Given the description of an element on the screen output the (x, y) to click on. 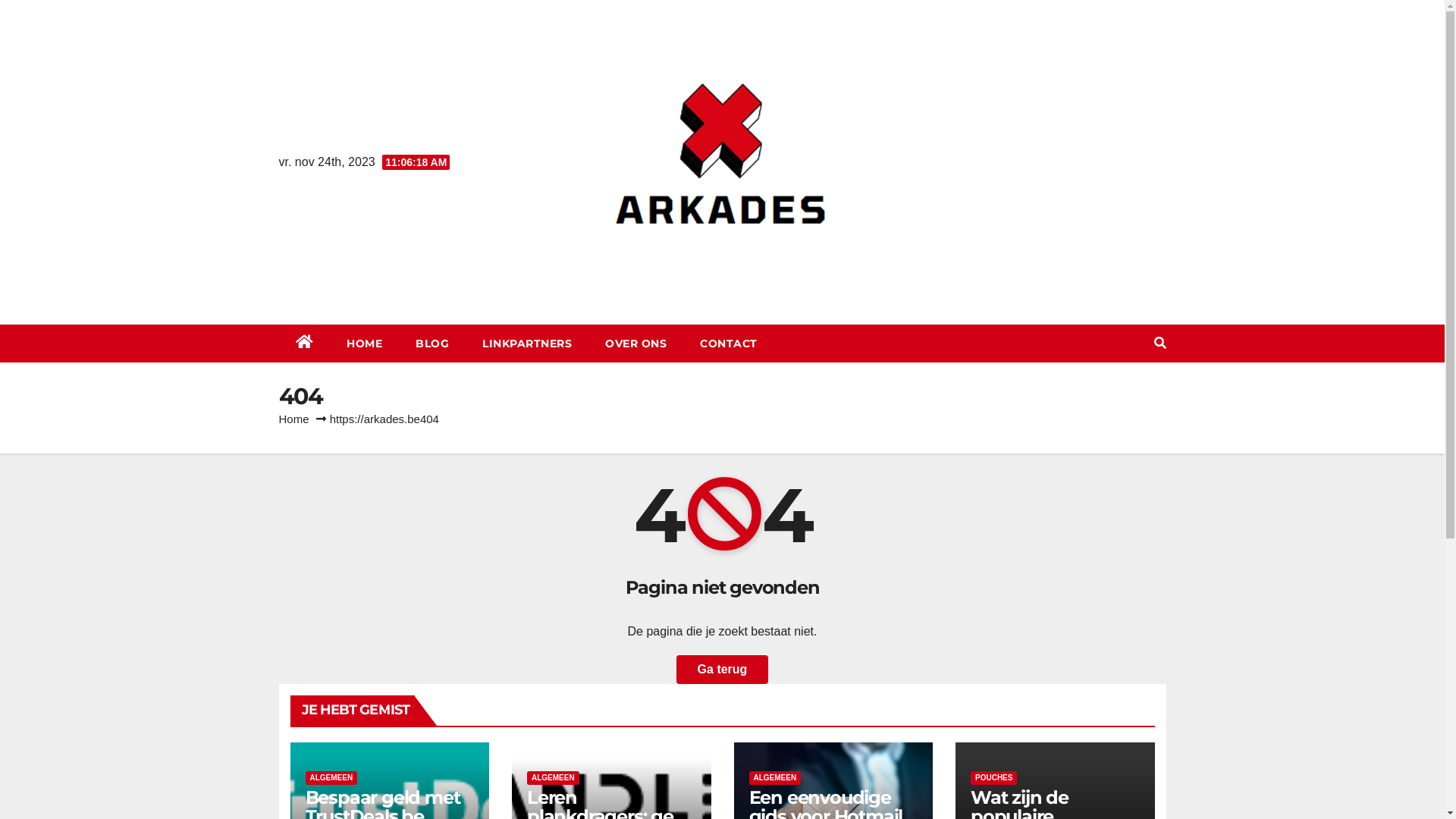
Ga terug Element type: text (722, 669)
ALGEMEEN Element type: text (775, 777)
Home Element type: text (294, 418)
POUCHES Element type: text (993, 777)
LINKPARTNERS Element type: text (526, 343)
HOME Element type: text (363, 343)
CONTACT Element type: text (728, 343)
ALGEMEEN Element type: text (553, 777)
BLOG Element type: text (431, 343)
ALGEMEEN Element type: text (330, 777)
OVER ONS Element type: text (635, 343)
